Given the description of an element on the screen output the (x, y) to click on. 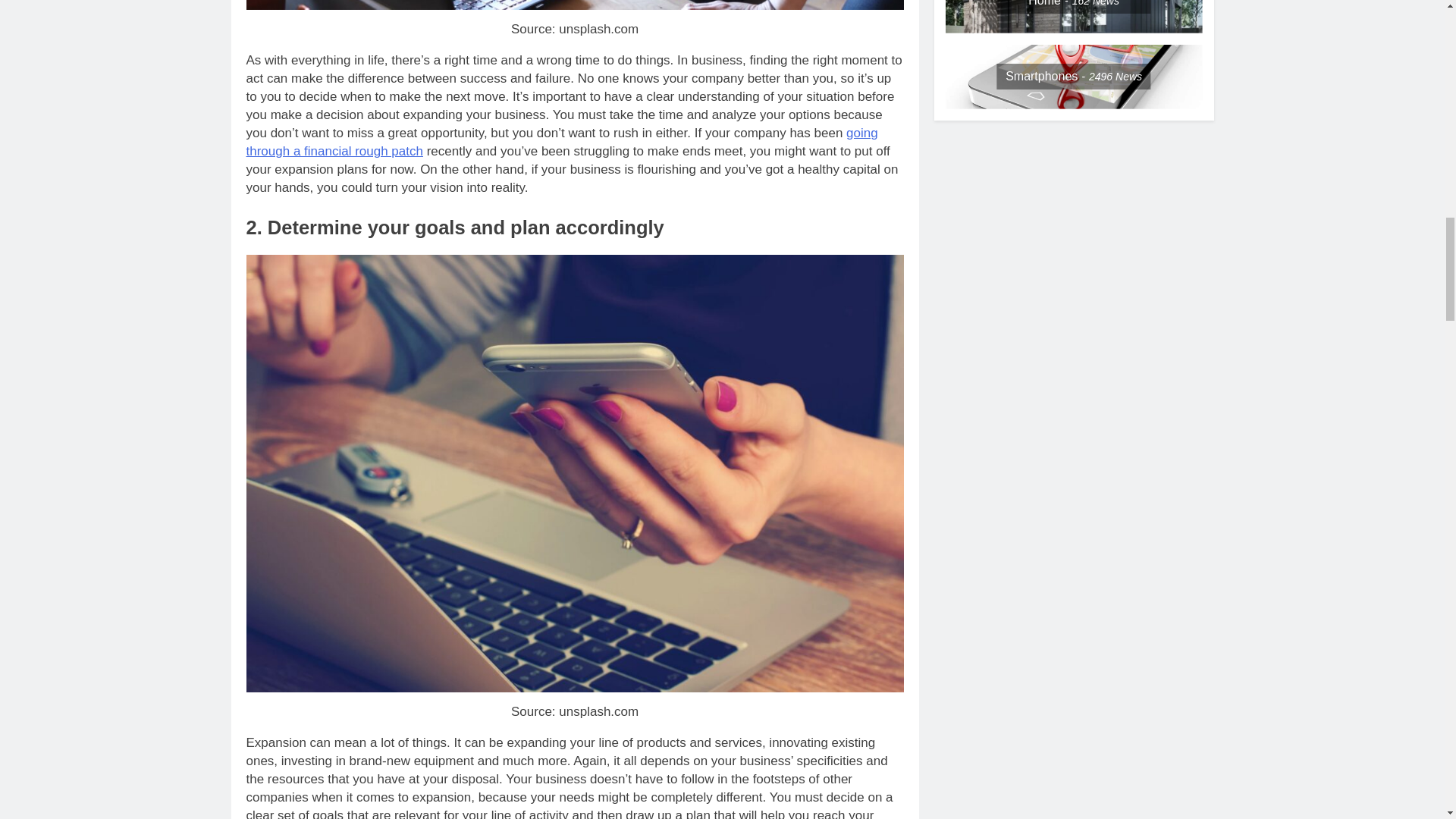
going through a financial rough patch (561, 142)
